Given the description of an element on the screen output the (x, y) to click on. 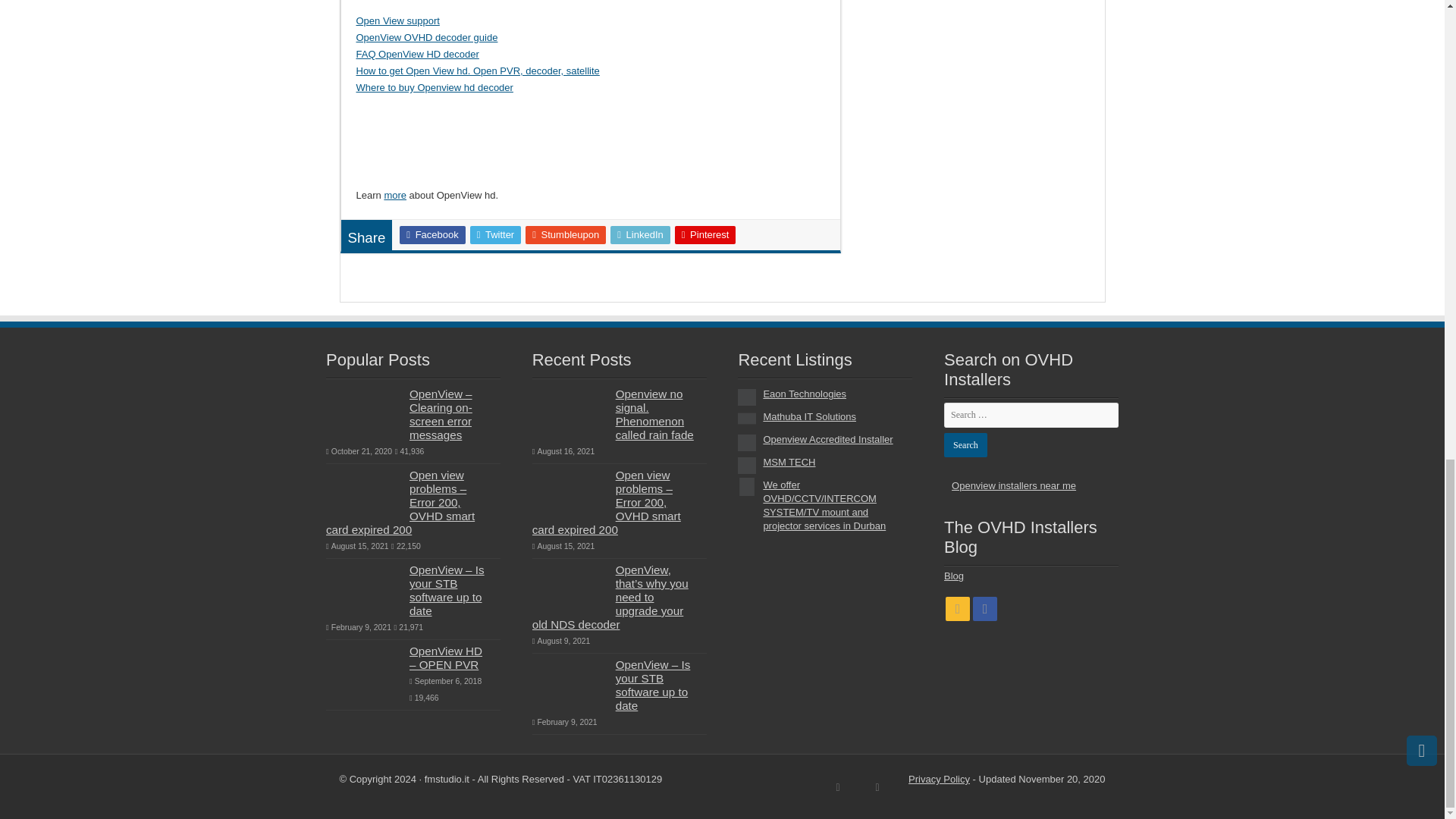
Search (965, 445)
Search (965, 445)
